Given the description of an element on the screen output the (x, y) to click on. 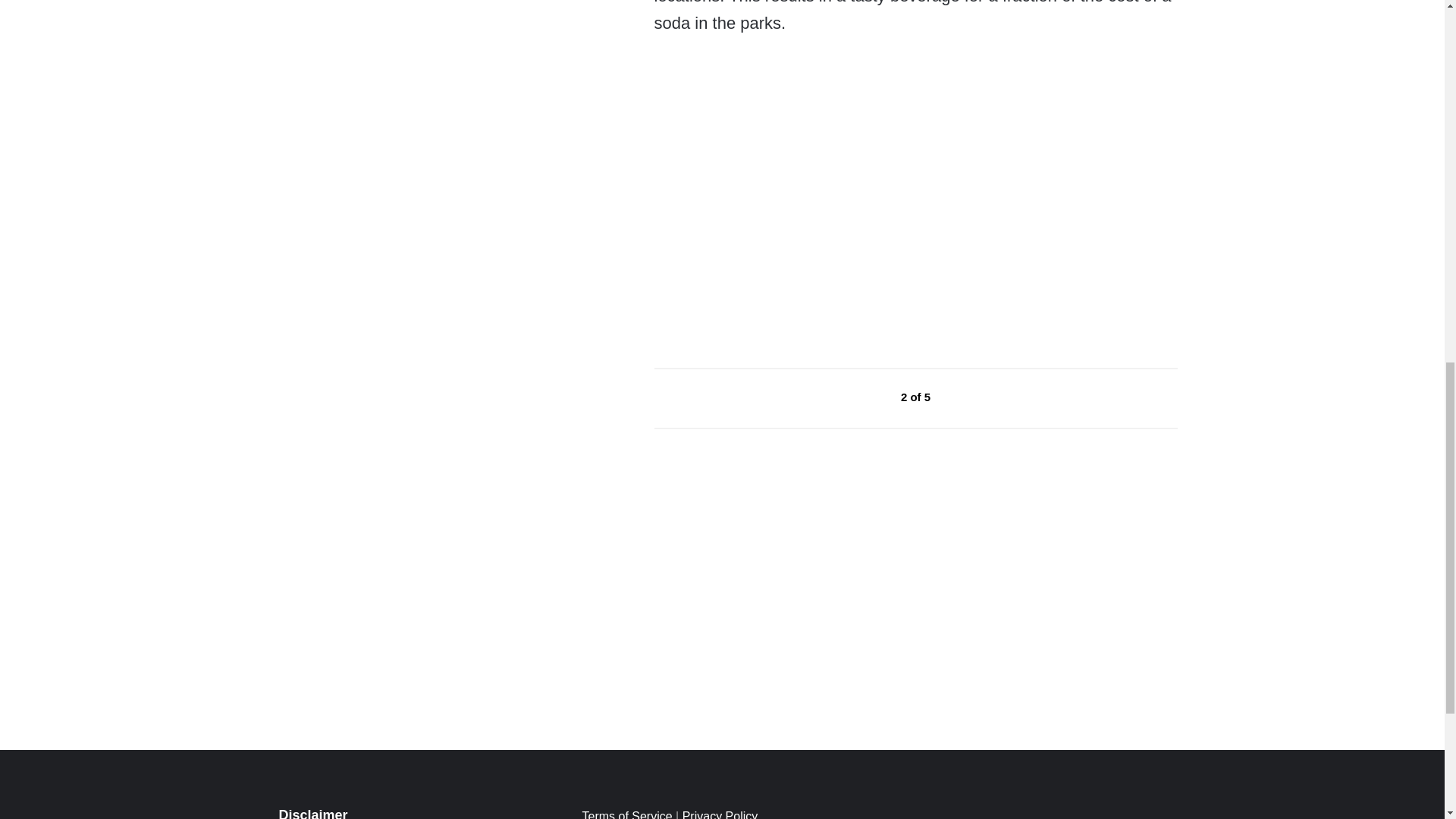
right (966, 396)
Terms of Service (625, 814)
Privacy Policy (720, 814)
Advertisement (766, 210)
Left (866, 396)
